Given the description of an element on the screen output the (x, y) to click on. 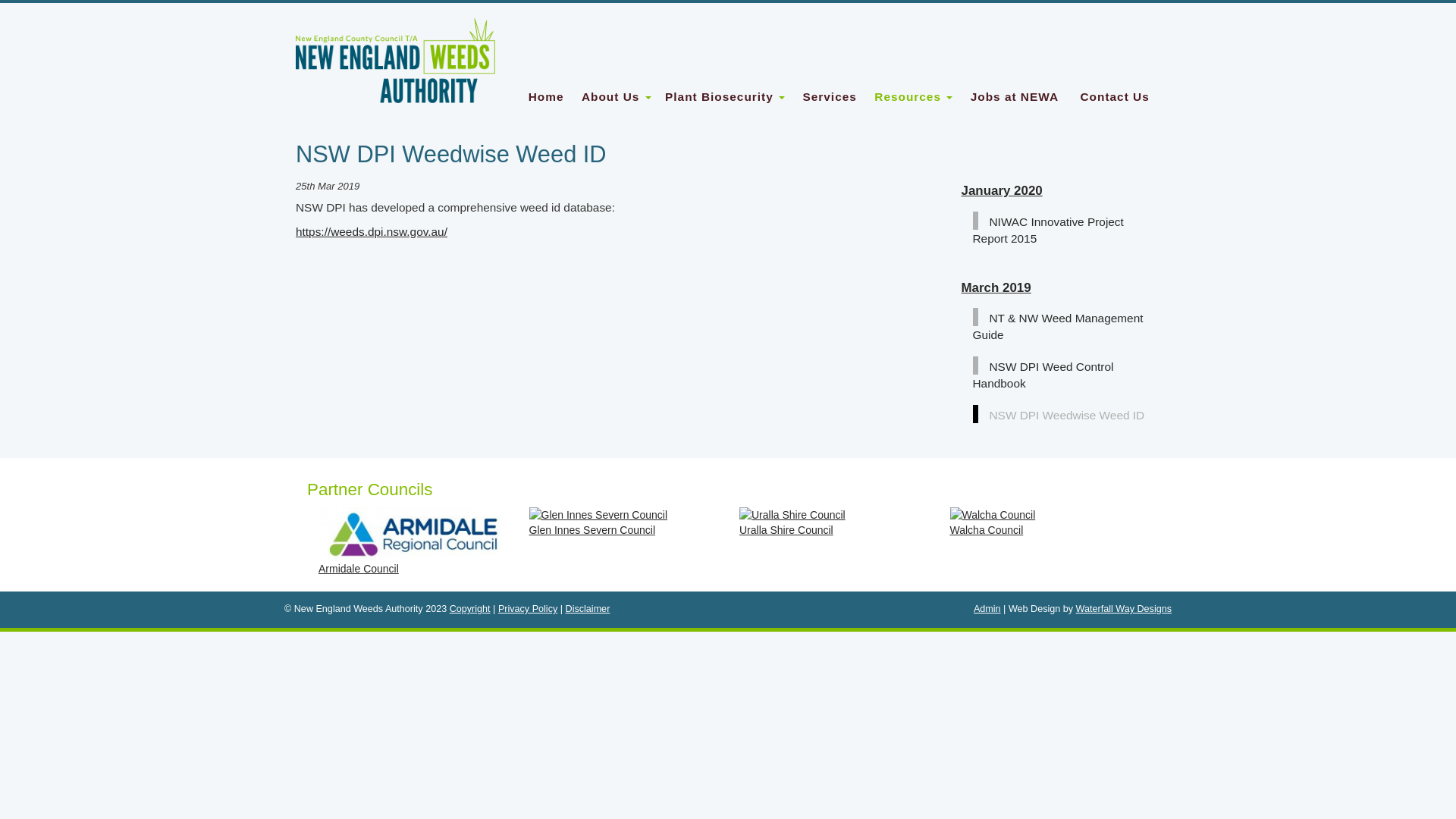
Copyright Element type: text (469, 608)
Contact Us Element type: text (1114, 96)
Home Element type: text (545, 96)
March 2019 Element type: text (996, 287)
Armidale Council Element type: text (412, 541)
Uralla Shire Council Element type: text (833, 522)
About Us  Element type: text (616, 96)
Privacy Policy Element type: text (527, 608)
Waterfall Way Designs Element type: text (1123, 608)
NIWAC Innovative Project Report 2015 Element type: text (1047, 228)
NT & NW Weed Management Guide Element type: text (1057, 324)
Glen Innes Severn Council Element type: text (623, 522)
NSW DPI Weedwise Weed ID Element type: text (1061, 413)
NSW DPI Weed Control Handbook Element type: text (1042, 373)
Services Element type: text (829, 96)
Walcha Council Element type: text (1043, 522)
Jobs at NEWA Element type: text (1014, 96)
Admin Element type: text (987, 608)
https://weeds.dpi.nsw.gov.au/ Element type: text (371, 231)
Plant Biosecurity  Element type: text (724, 96)
Disclaimer Element type: text (587, 608)
January 2020 Element type: text (1001, 190)
Resources  Element type: text (913, 96)
